Given the description of an element on the screen output the (x, y) to click on. 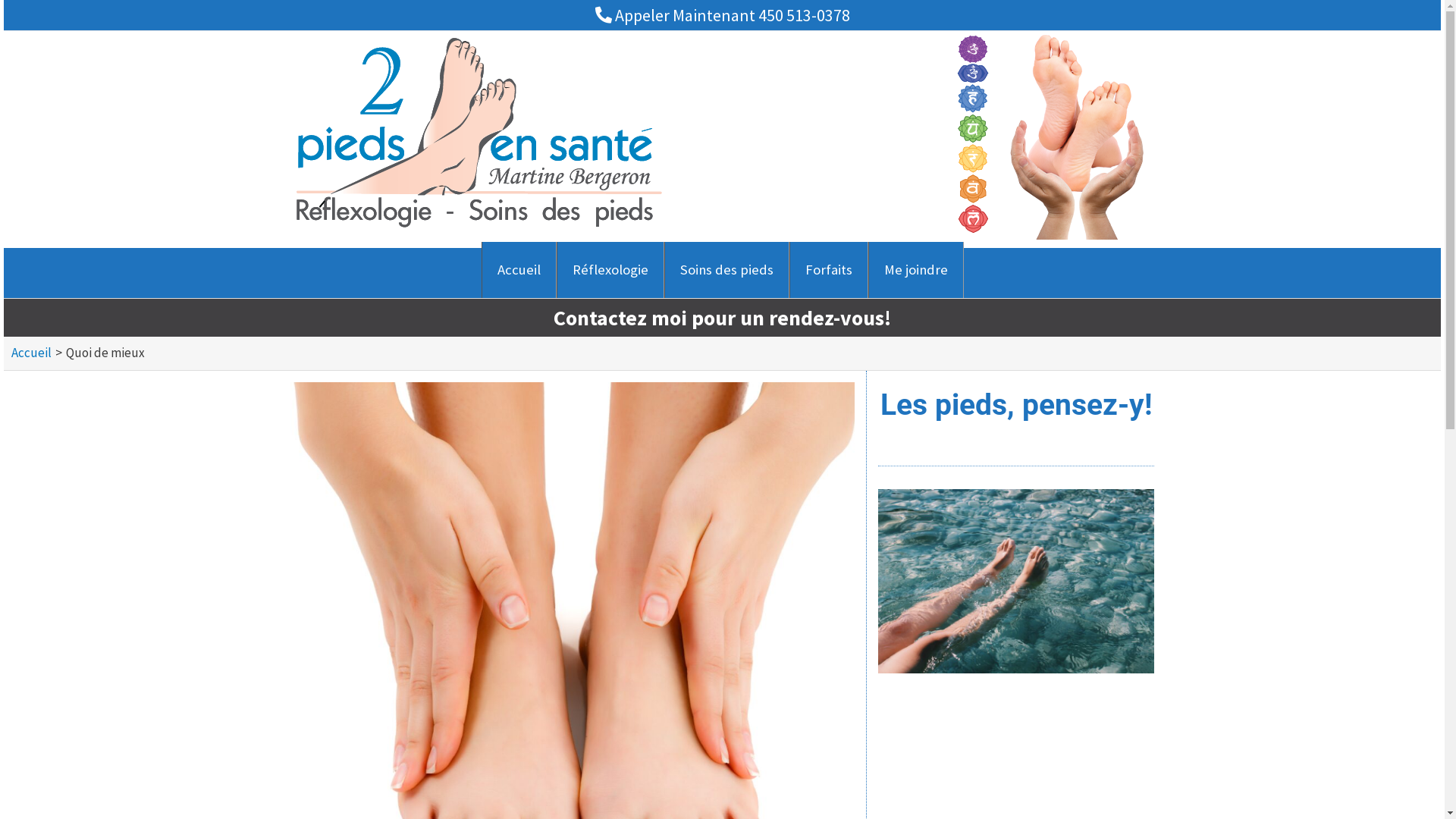
Contactez moi pour un rendez-vous! Element type: text (722, 317)
Me joindre Element type: text (915, 269)
Forfaits Element type: text (827, 269)
Accueil Element type: text (31, 352)
Accueil Element type: text (517, 269)
Soins des pieds Element type: text (726, 269)
Appeler Maintenant 450 513-0378 Element type: text (721, 14)
